Given the description of an element on the screen output the (x, y) to click on. 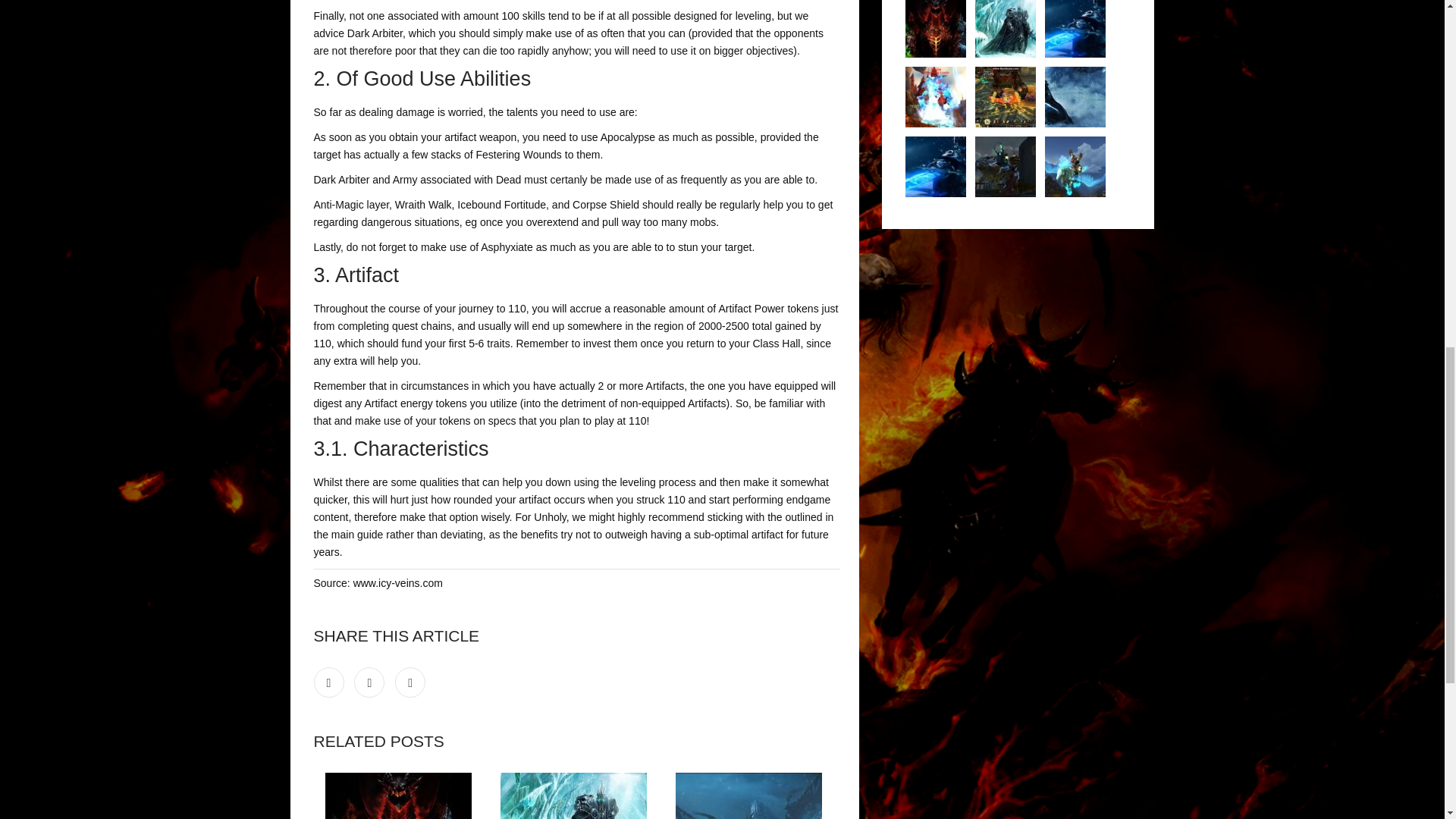
World of Warcraft Lich King (935, 166)
World of Warcraft Invincible Mount (1005, 166)
World of Warcraft Lich King Private Server (935, 96)
World of Warcraft Lich King Sword (576, 796)
World of Warcraft Wrath of Lich King (1075, 28)
World of Warcraft Lich King Fight (1005, 96)
World of Warcraft Lich King Wallpaper (1075, 96)
World of Warcraft Mount (1075, 166)
World of Warcraft Wrath of Lich King (751, 796)
World of Warcraft Lich King Sword (1005, 28)
World of Warcraft Lich King Armor (400, 796)
World of Warcraft Lich King Armor (935, 28)
